Given the description of an element on the screen output the (x, y) to click on. 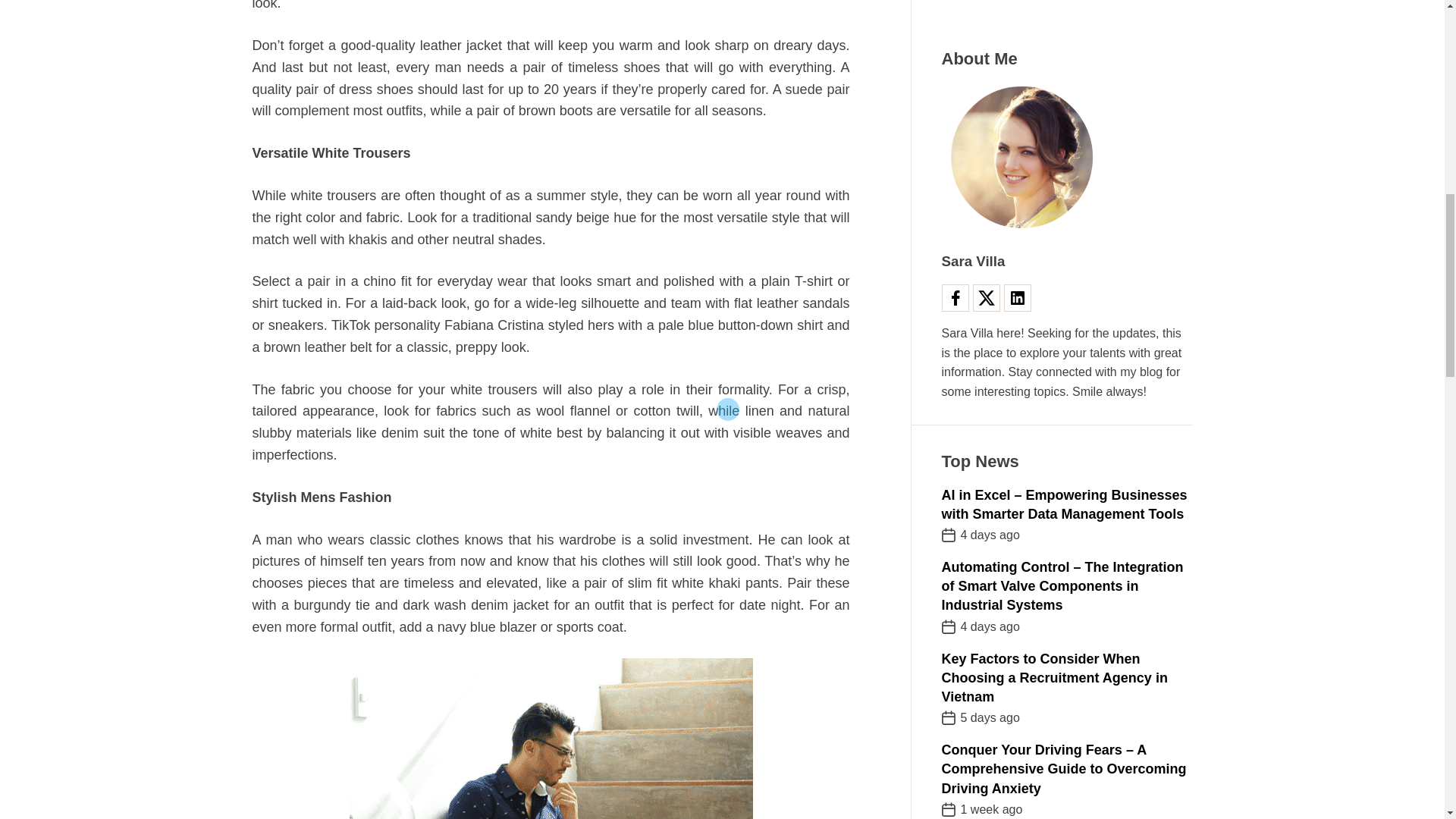
RECENT (1035, 457)
POPULAR (972, 457)
